Given the description of an element on the screen output the (x, y) to click on. 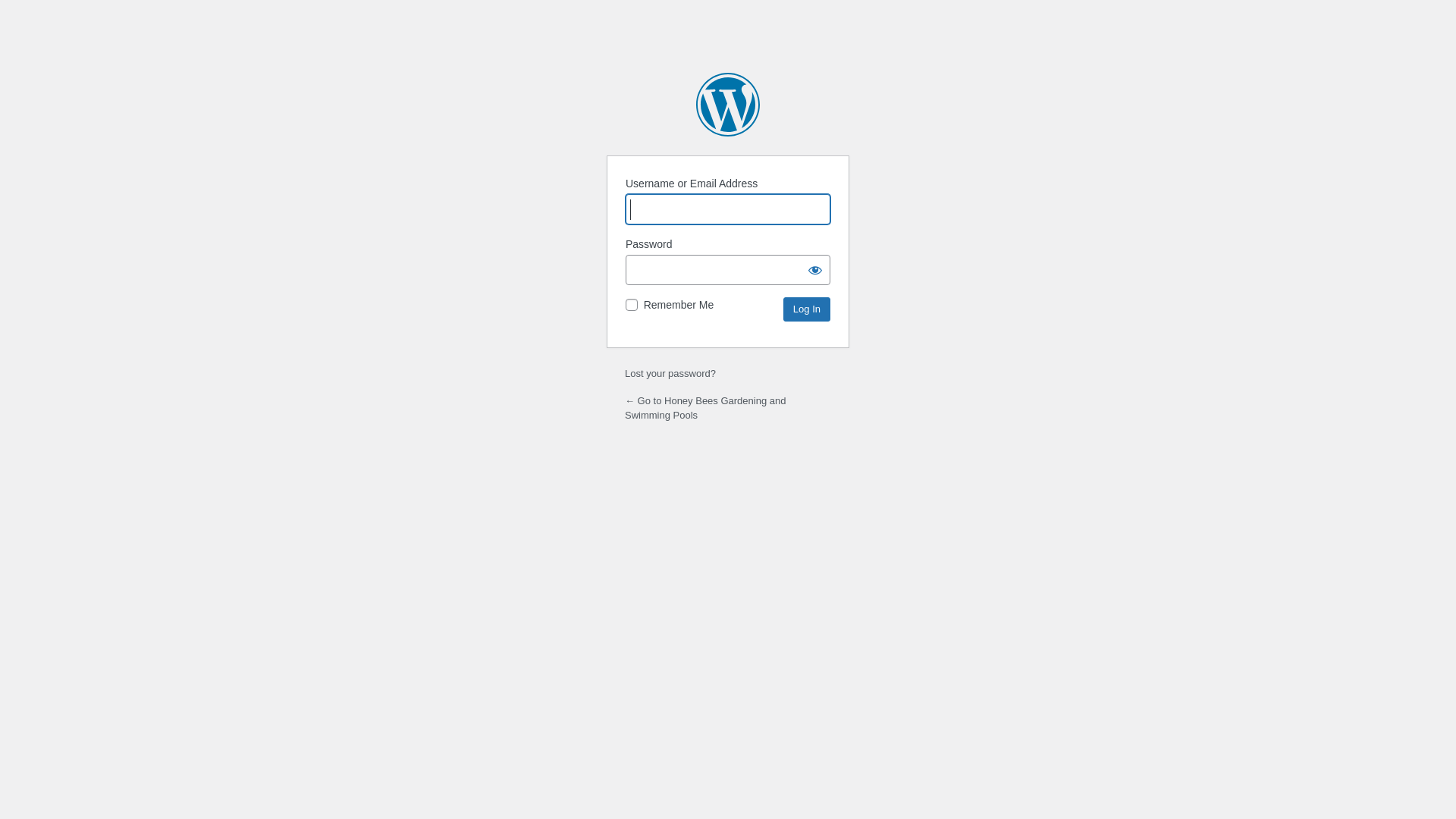
Log In Element type: text (806, 309)
Lost your password? Element type: text (669, 373)
Powered by WordPress Element type: text (727, 104)
